Given the description of an element on the screen output the (x, y) to click on. 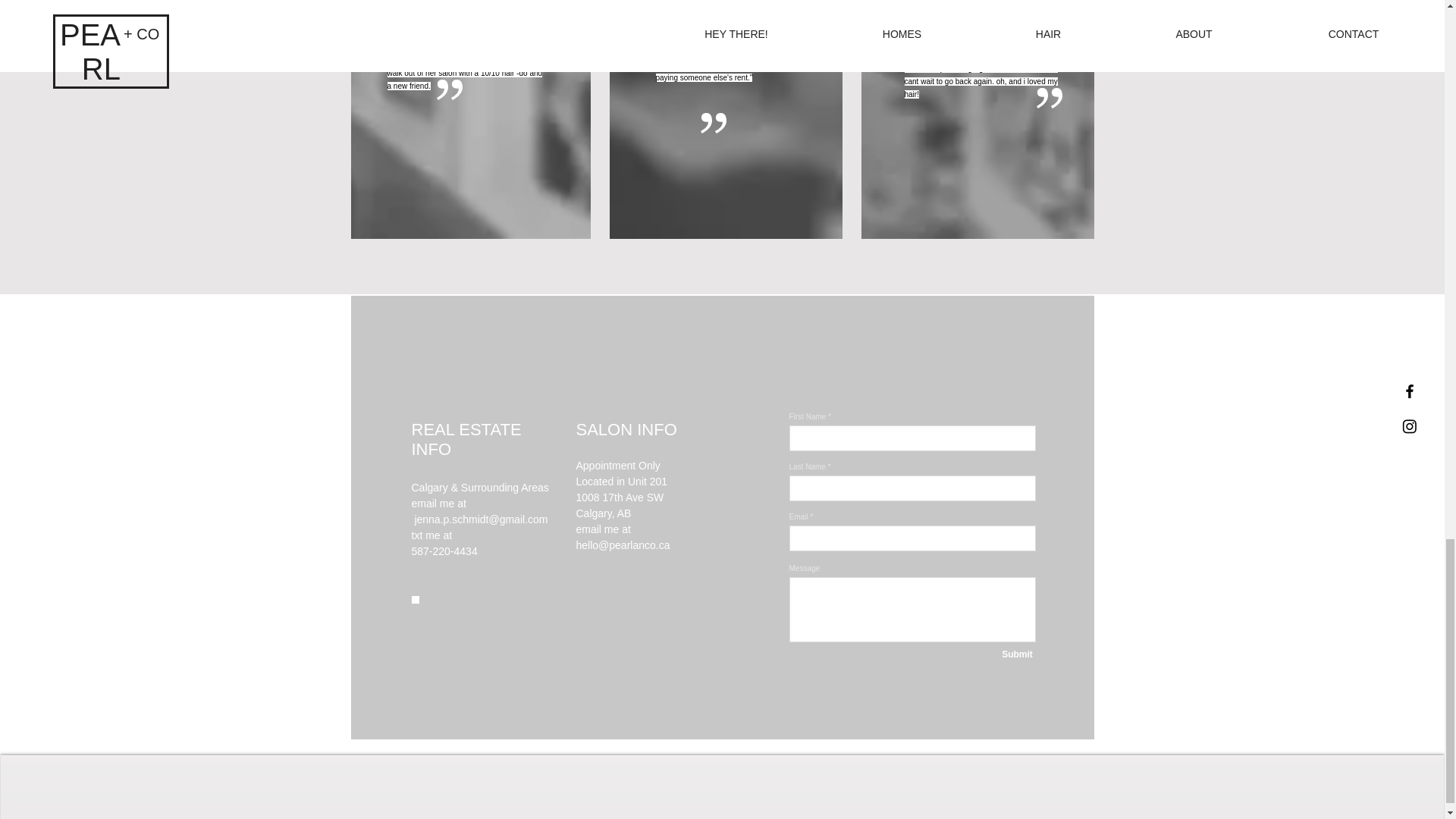
Submit (1016, 653)
